Given the description of an element on the screen output the (x, y) to click on. 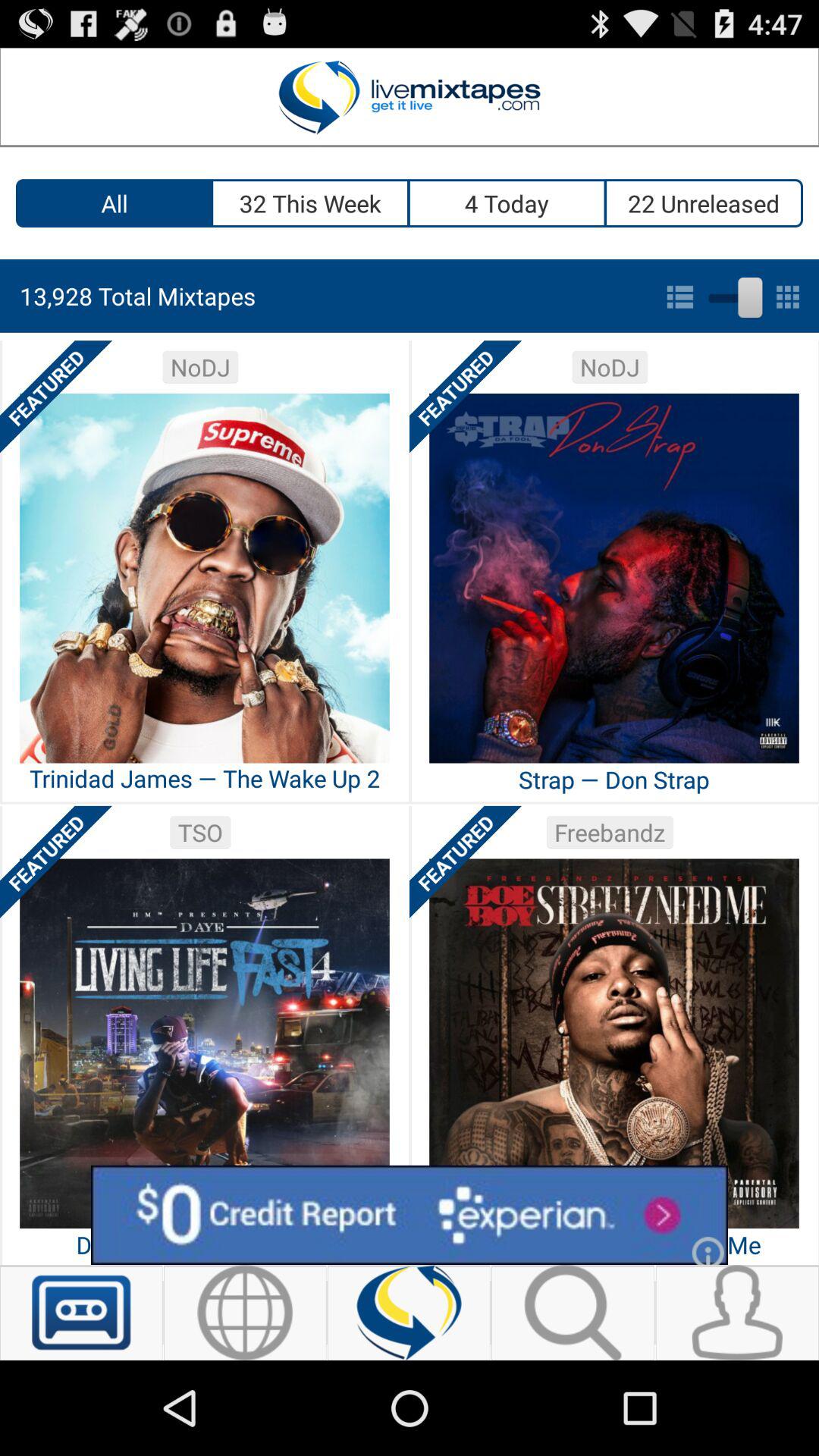
turn off the item to the left of the 32 this week icon (113, 203)
